Given the description of an element on the screen output the (x, y) to click on. 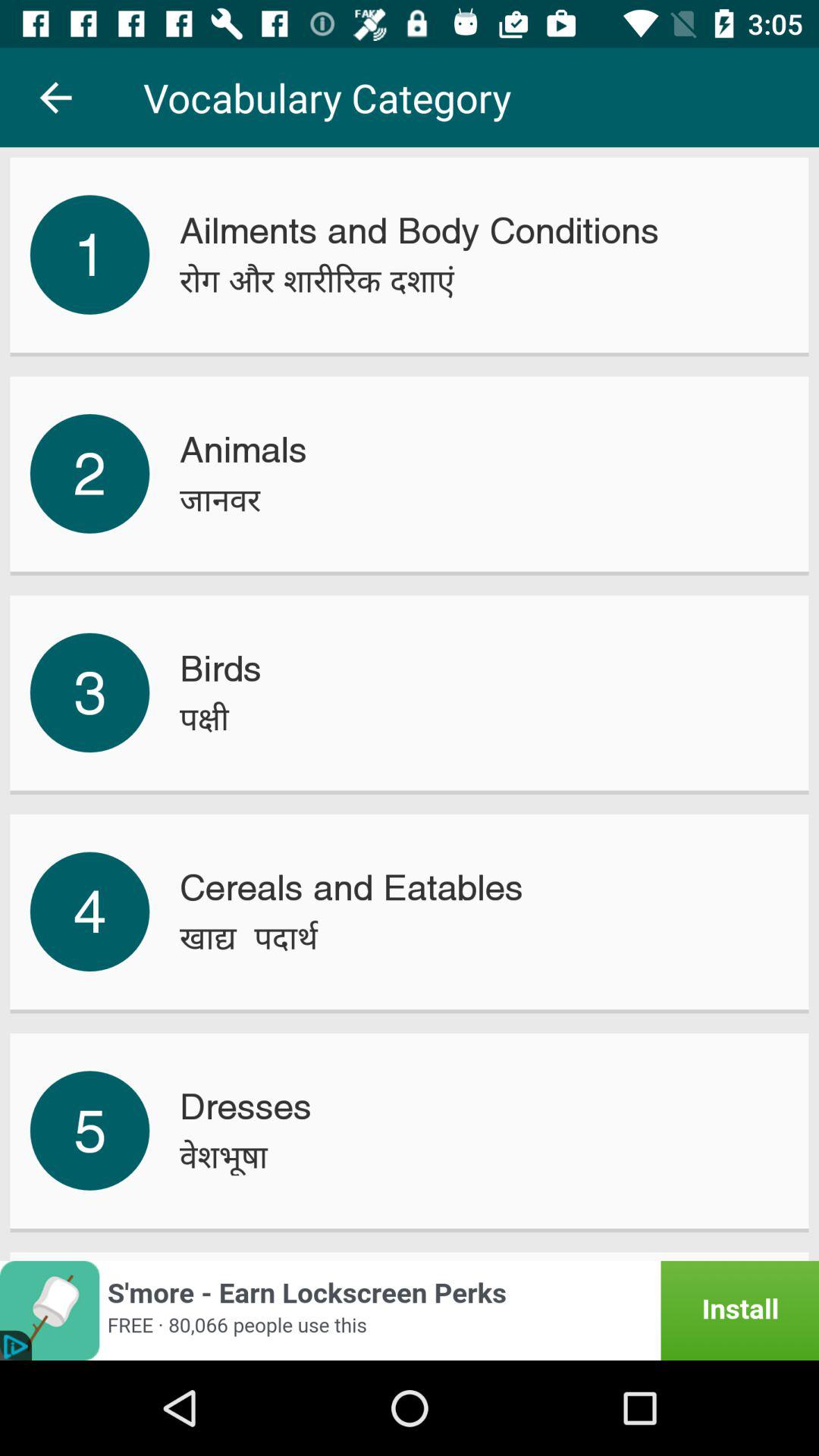
open the icon next to animals (89, 473)
